Given the description of an element on the screen output the (x, y) to click on. 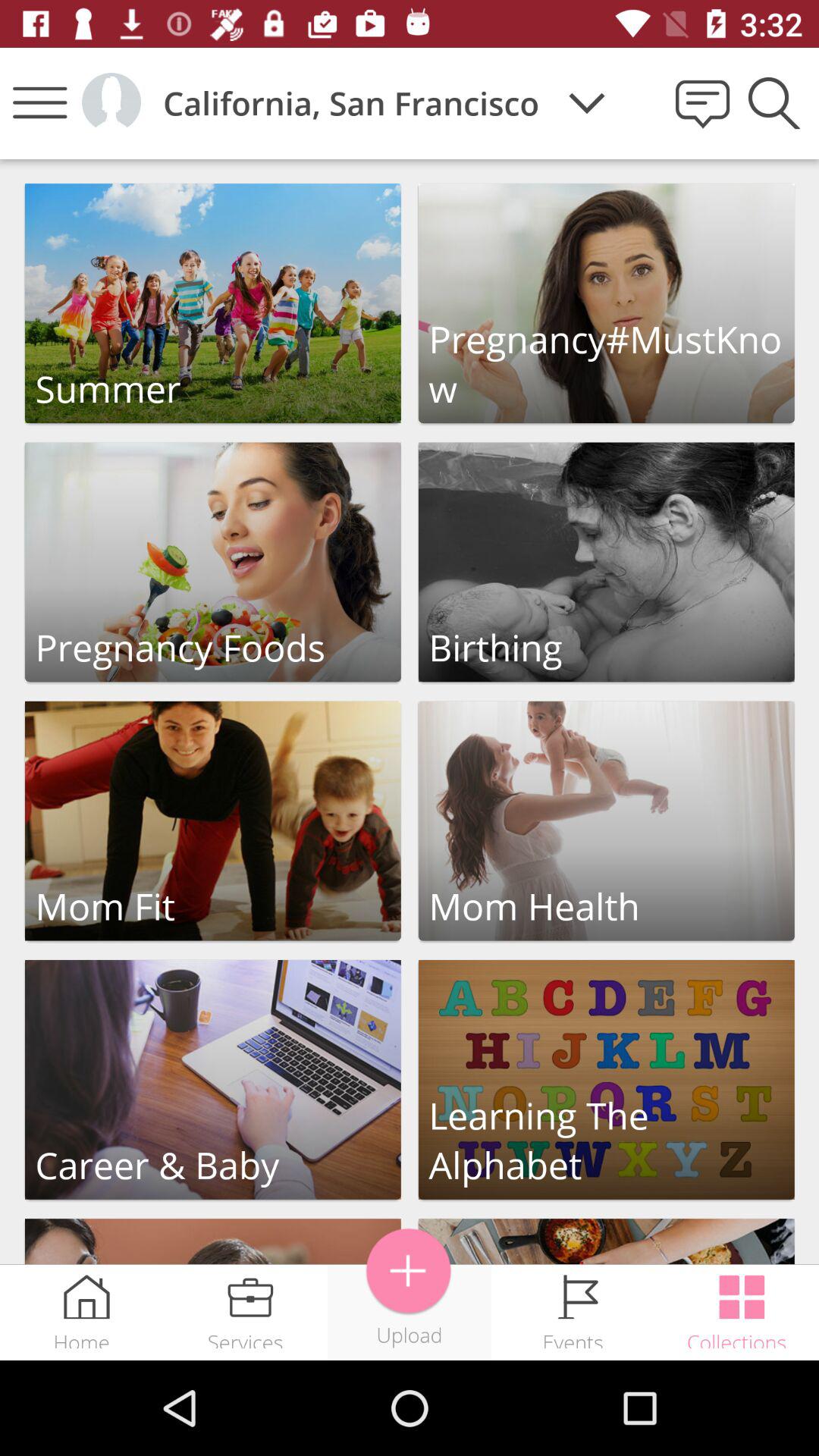
category selection (606, 820)
